Given the description of an element on the screen output the (x, y) to click on. 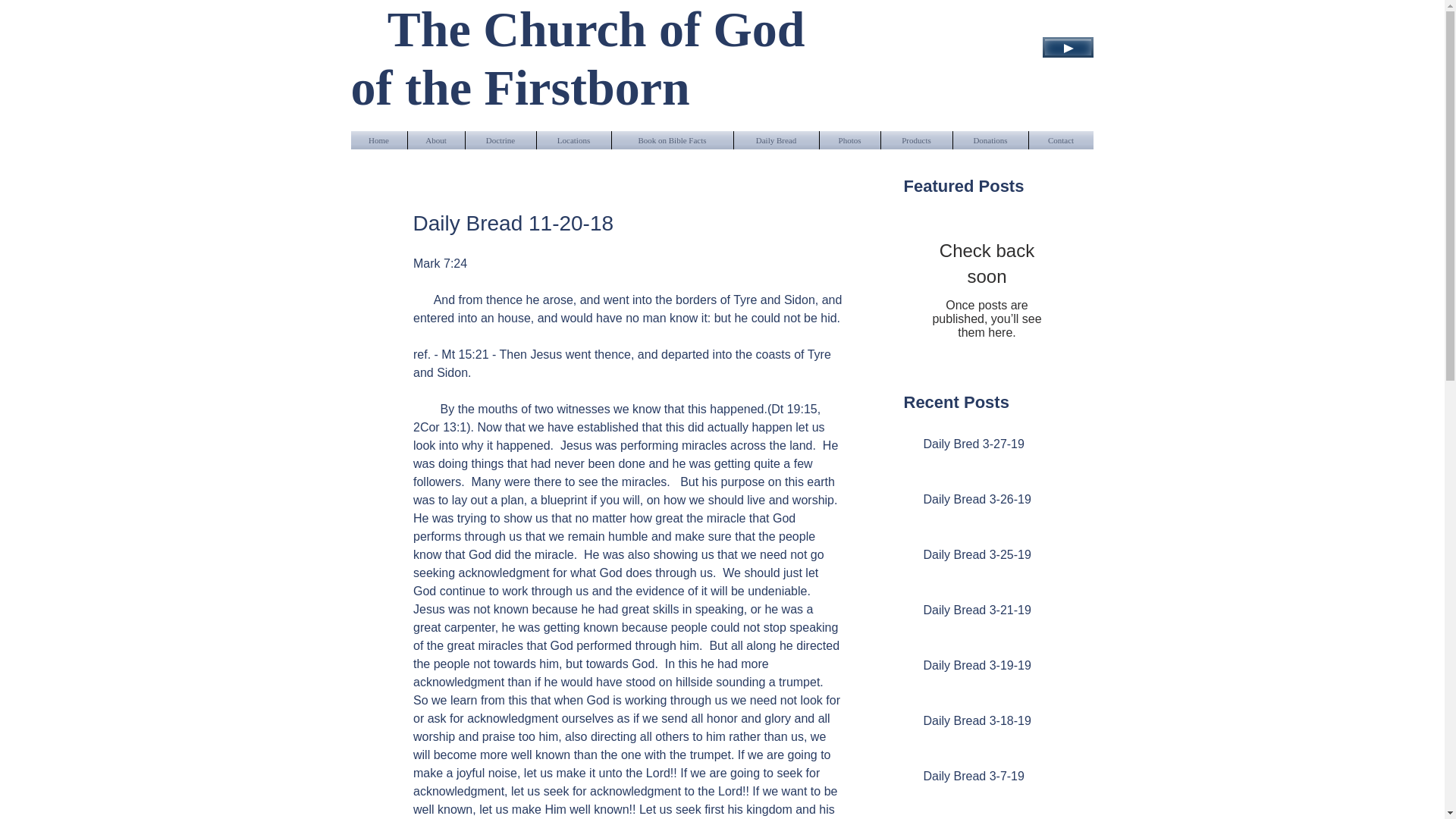
Daily Bread 3-25-19 (992, 558)
Contact (1060, 140)
Photos (848, 140)
Daily Bread 3-18-19 (992, 723)
Daily Bread 3-21-19 (992, 612)
Daily Bread 3-26-19 (992, 502)
About (435, 140)
Products (916, 140)
Home (378, 140)
Daily Bred 3-27-19 (992, 446)
Donations (989, 140)
Daily Bread 3-7-19 (992, 779)
Daily Bread 3-19-19 (992, 668)
Book on Bible Facts (671, 140)
Doctrine (500, 140)
